Given the description of an element on the screen output the (x, y) to click on. 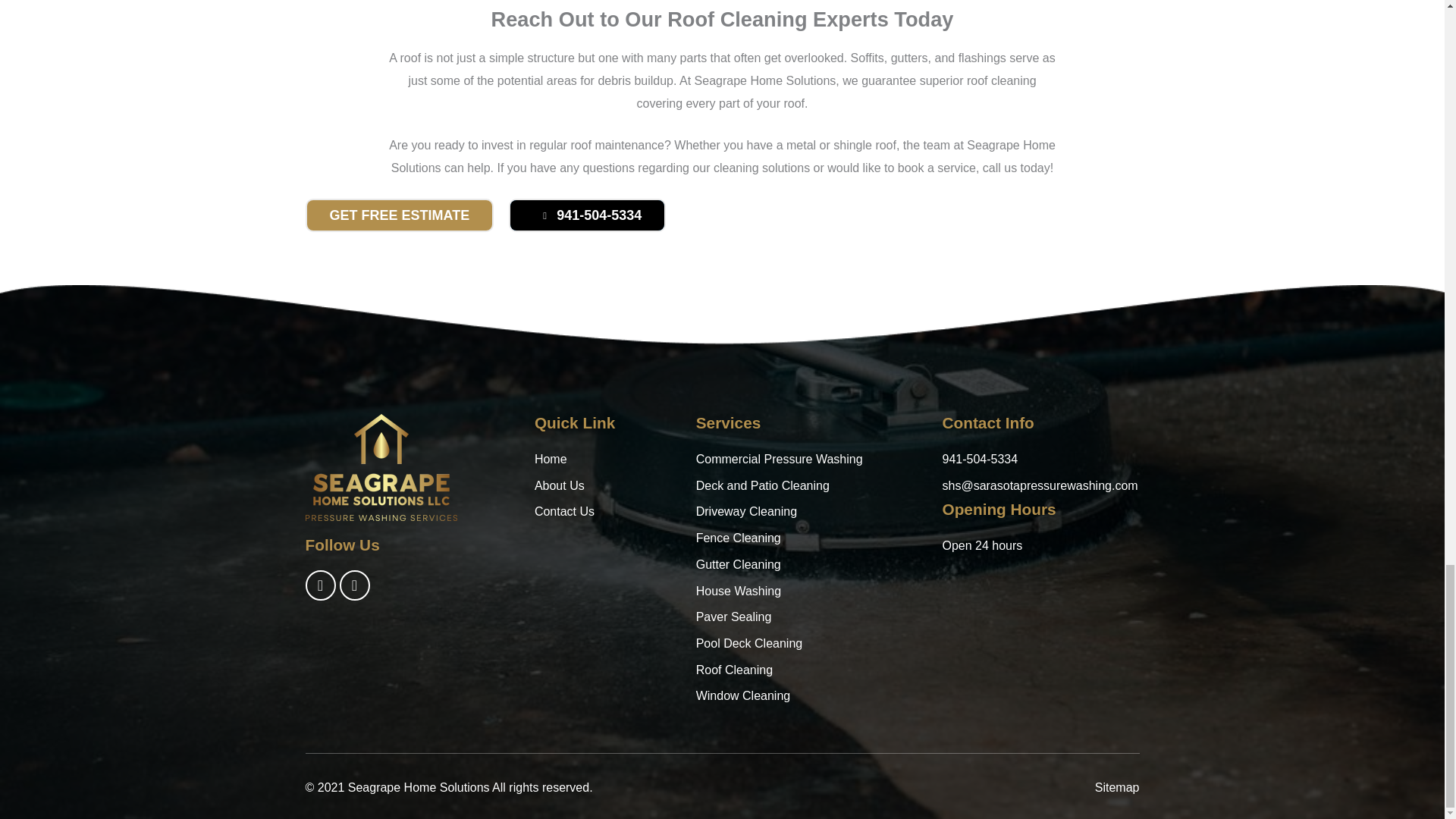
About Us (607, 486)
Home (607, 458)
GET FREE ESTIMATE (398, 215)
941-504-5334 (586, 215)
